Given the description of an element on the screen output the (x, y) to click on. 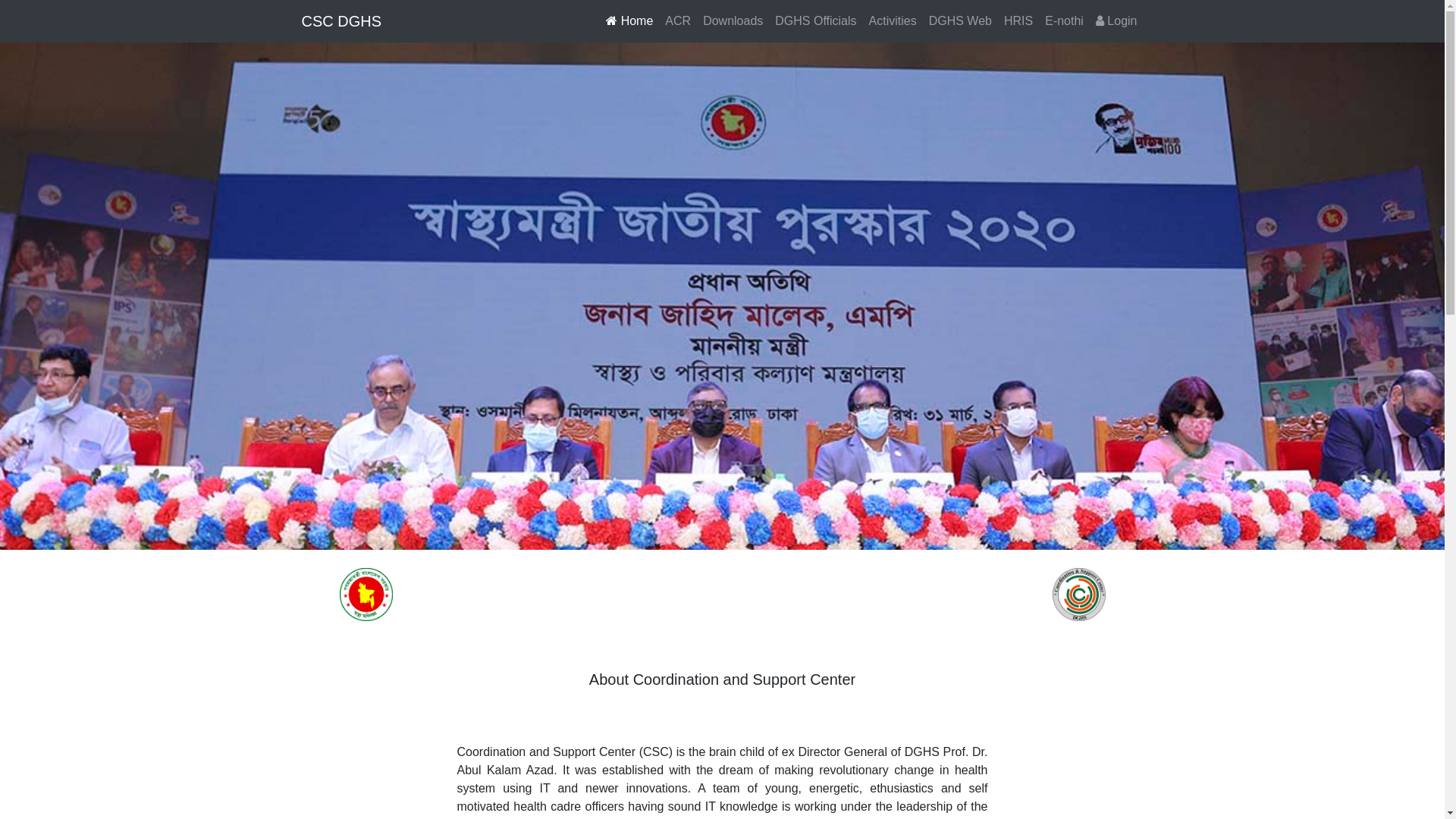
HRIS Element type: text (1017, 21)
ACR Element type: text (677, 21)
Home Element type: text (628, 21)
Activities Element type: text (892, 21)
E-nothi Element type: text (1063, 21)
DGHS Web Element type: text (959, 21)
CSC DGHS Element type: text (341, 21)
Downloads Element type: text (732, 21)
DGHS Officials Element type: text (815, 21)
Login Element type: text (1116, 21)
